Given the description of an element on the screen output the (x, y) to click on. 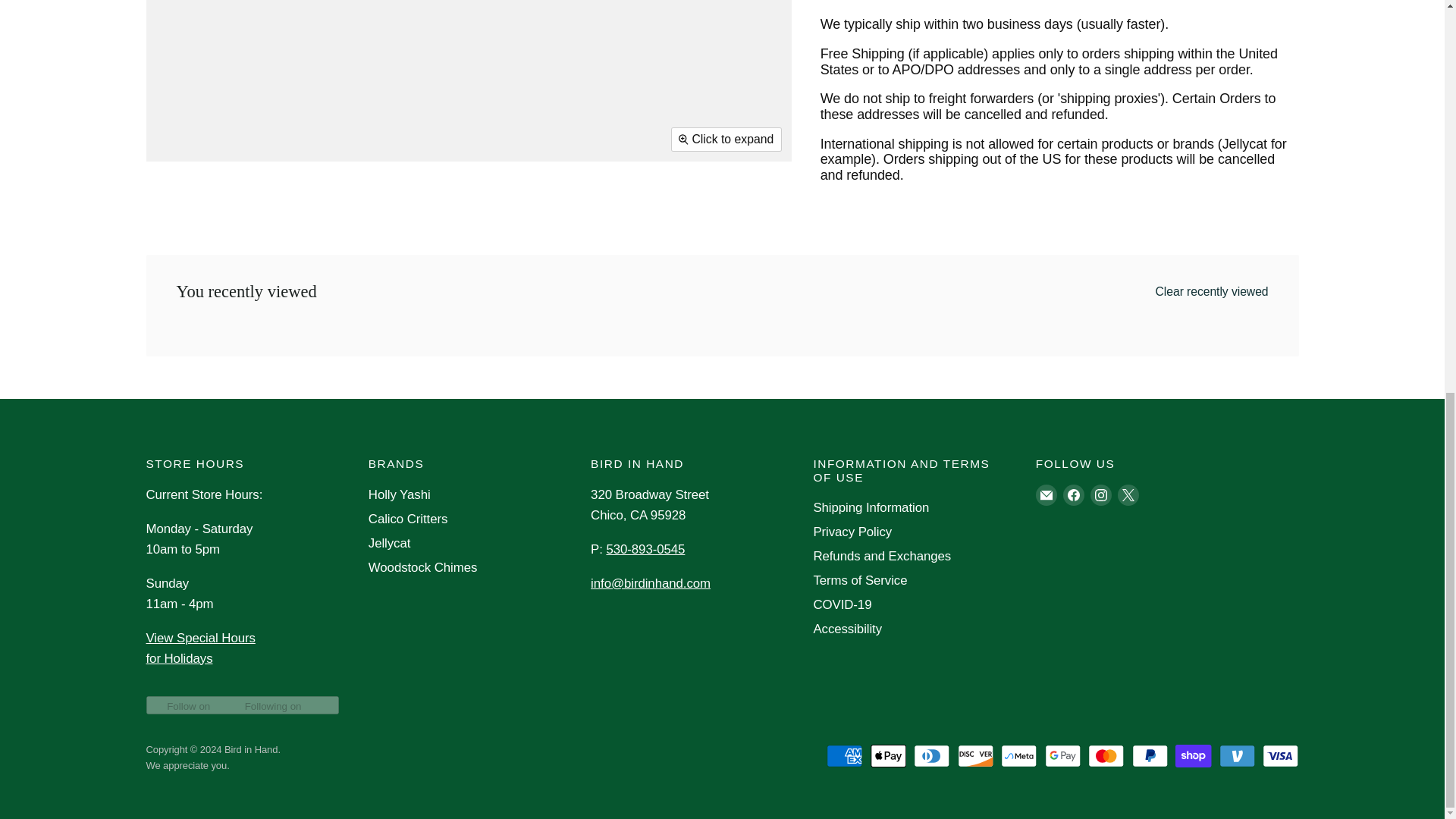
E-mail (1045, 494)
Instagram (1101, 494)
Facebook (1073, 494)
Call 530-893-0545 (644, 549)
X (1128, 494)
Seasonal and Holiday Store Hours (199, 647)
